Given the description of an element on the screen output the (x, y) to click on. 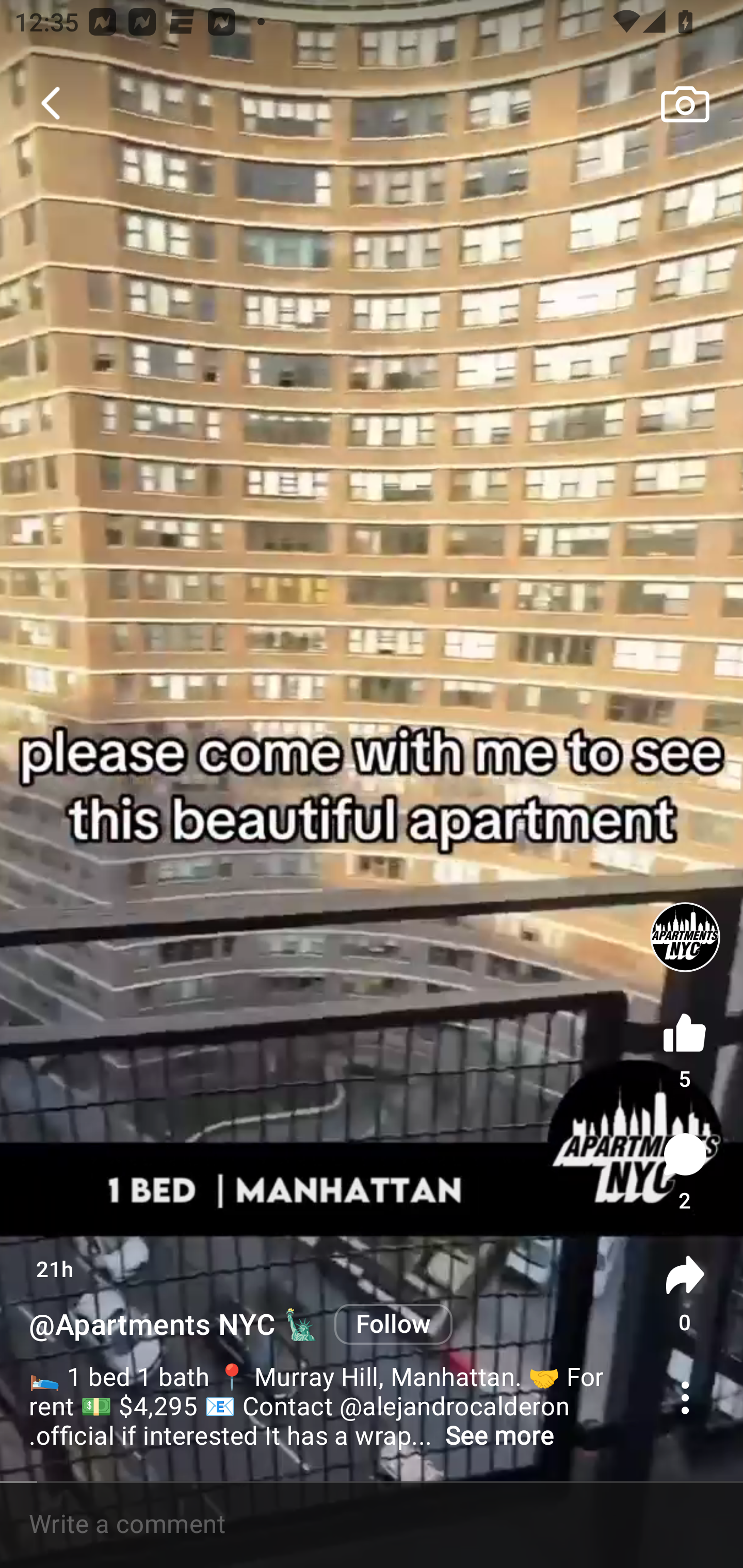
5 (684, 1046)
2 (684, 1171)
0 (684, 1293)
Follow (393, 1324)
@Apartments NYC 🗽 (174, 1324)
Write a comment (371, 1524)
